Given the description of an element on the screen output the (x, y) to click on. 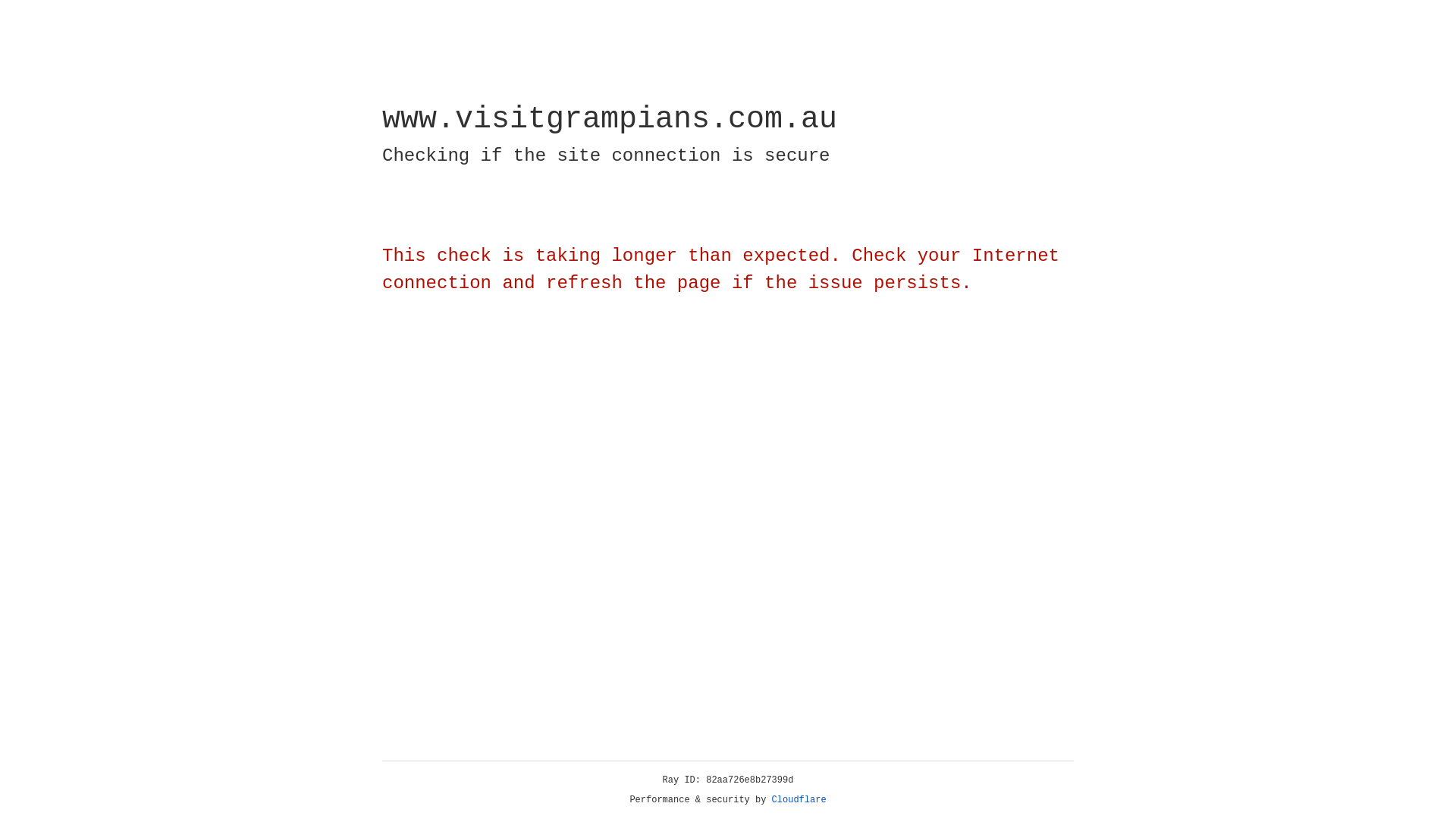
Cloudflare Element type: text (798, 799)
